Given the description of an element on the screen output the (x, y) to click on. 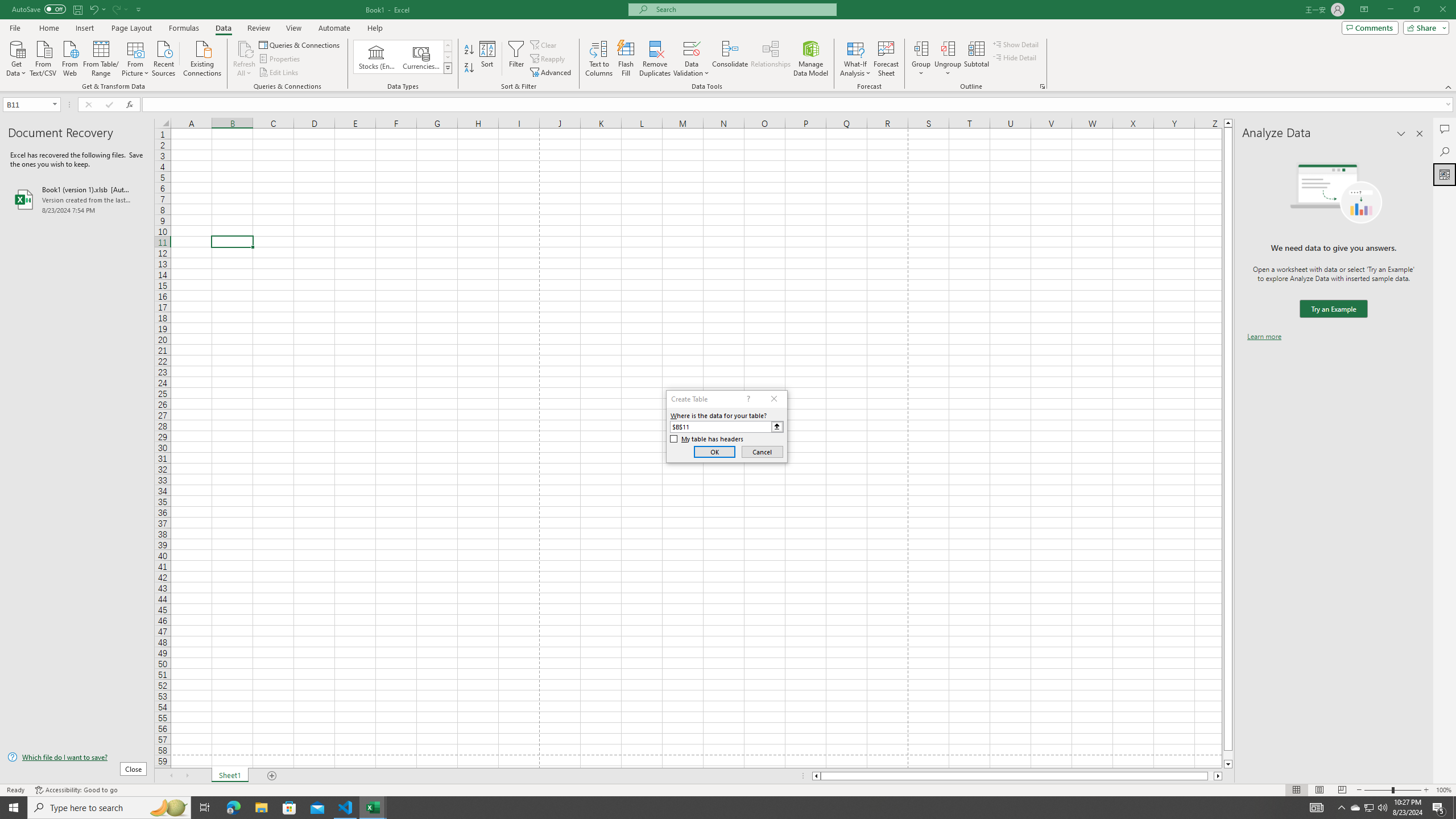
From Text/CSV (43, 57)
Get Data (16, 57)
Sort Z to A (469, 67)
Learn more (1264, 336)
